Given the description of an element on the screen output the (x, y) to click on. 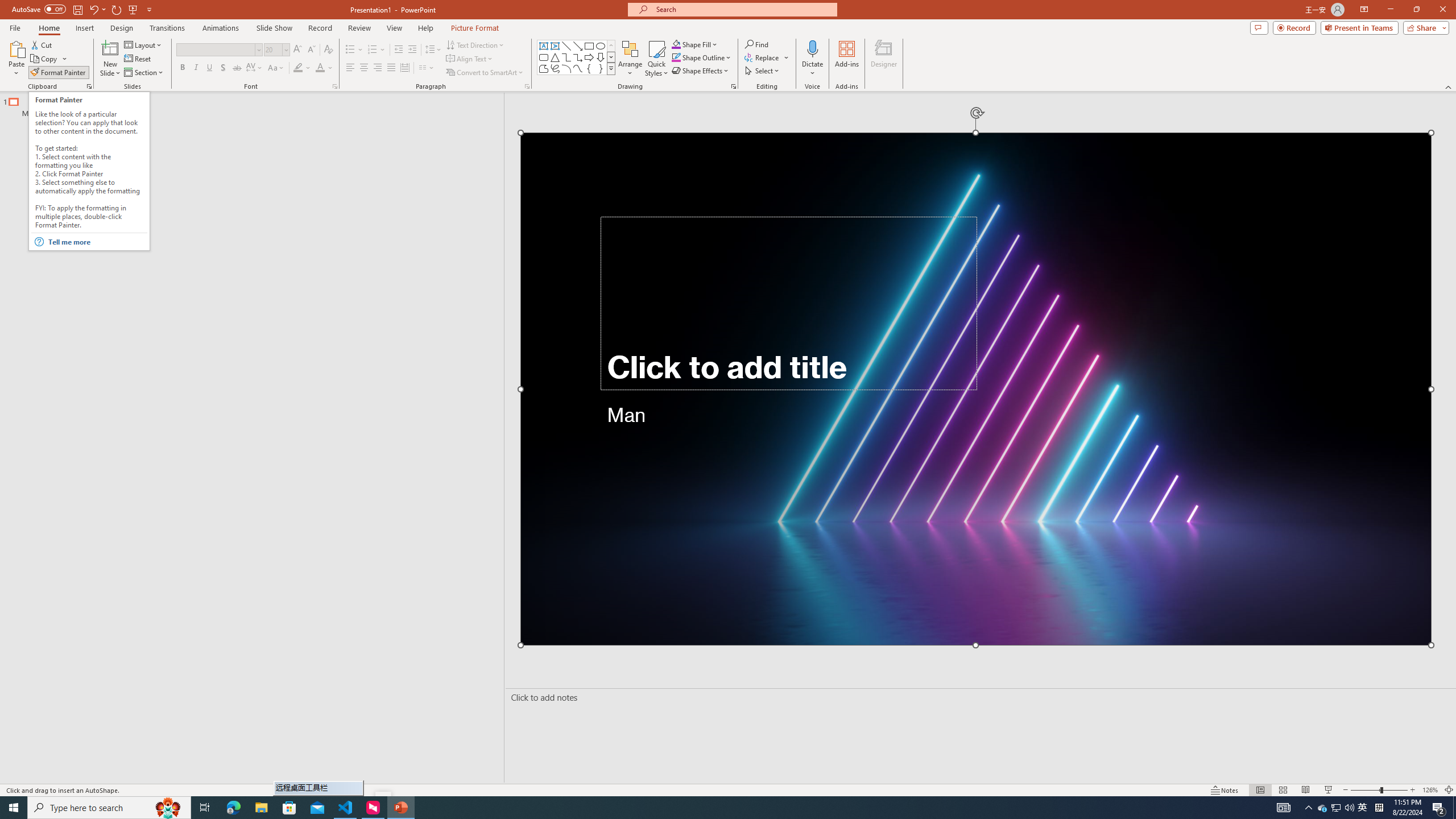
Shape Effects (700, 69)
Line (566, 45)
Connector: Elbow (566, 57)
Convert to SmartArt (485, 72)
AutomationID: ShapesInsertGallery (576, 57)
Decrease Font Size (310, 49)
Select (762, 69)
Freeform: Scribble (554, 68)
Arrange (630, 58)
